Given the description of an element on the screen output the (x, y) to click on. 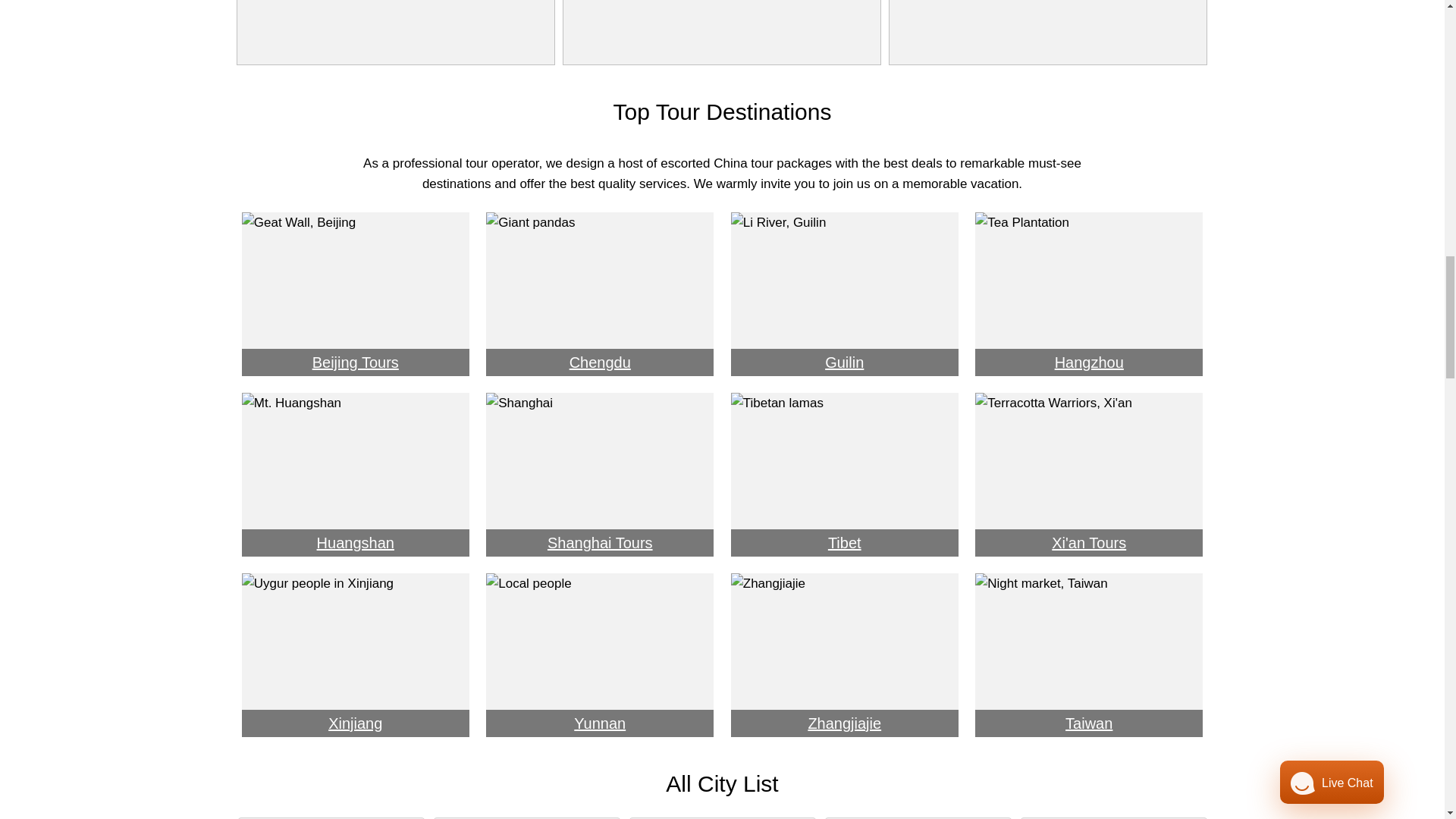
Shanghai (599, 474)
Tibetan lamas (844, 474)
Hangzhou (1089, 293)
Beijing Tours (355, 293)
Terracotta Warriors, Xi'an (1088, 474)
Giant pandas (599, 293)
Tibet (845, 474)
Geat Wall, Beijing (354, 293)
